Given the description of an element on the screen output the (x, y) to click on. 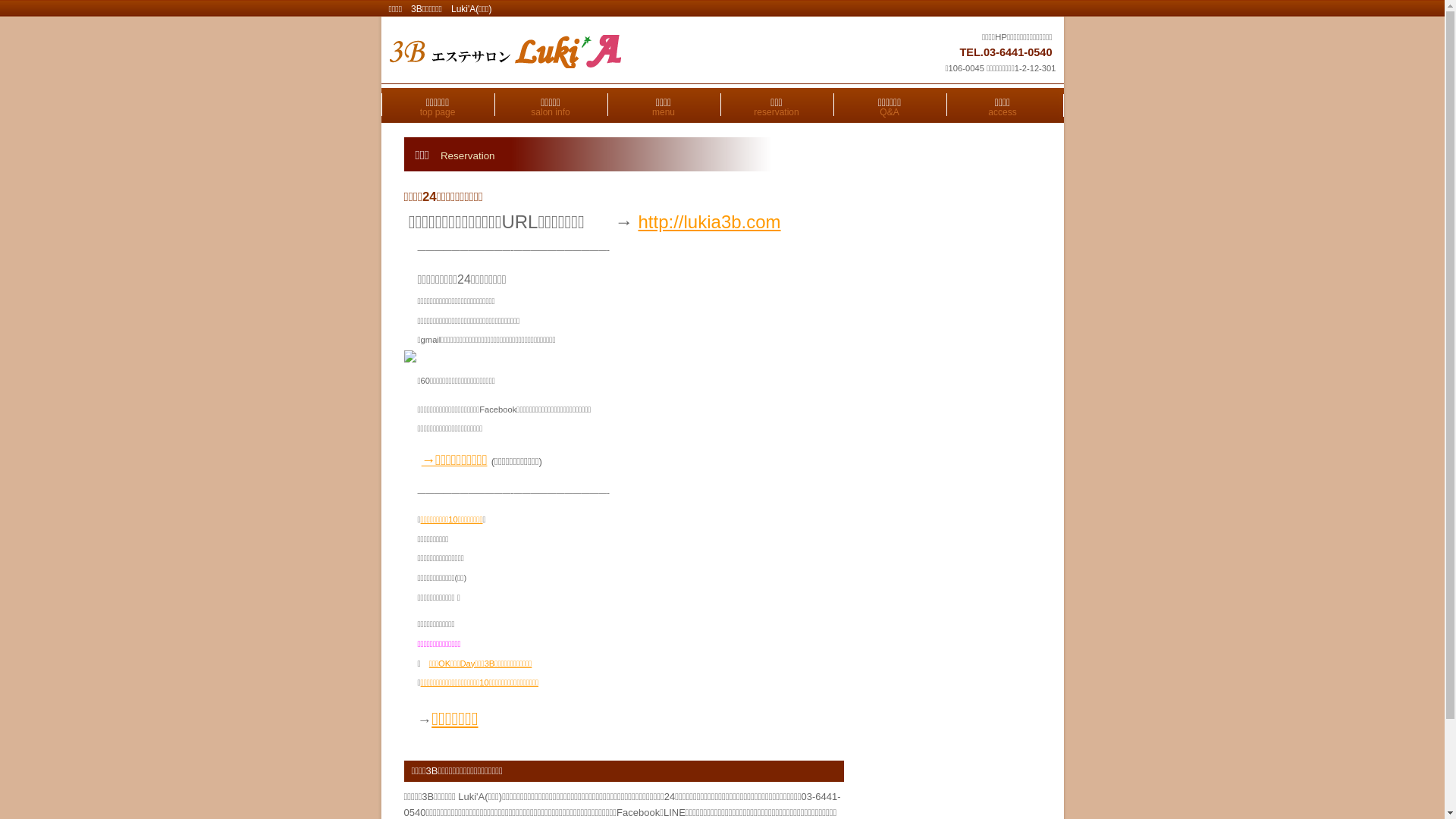
http://lukia3b.com Element type: text (708, 221)
